Given the description of an element on the screen output the (x, y) to click on. 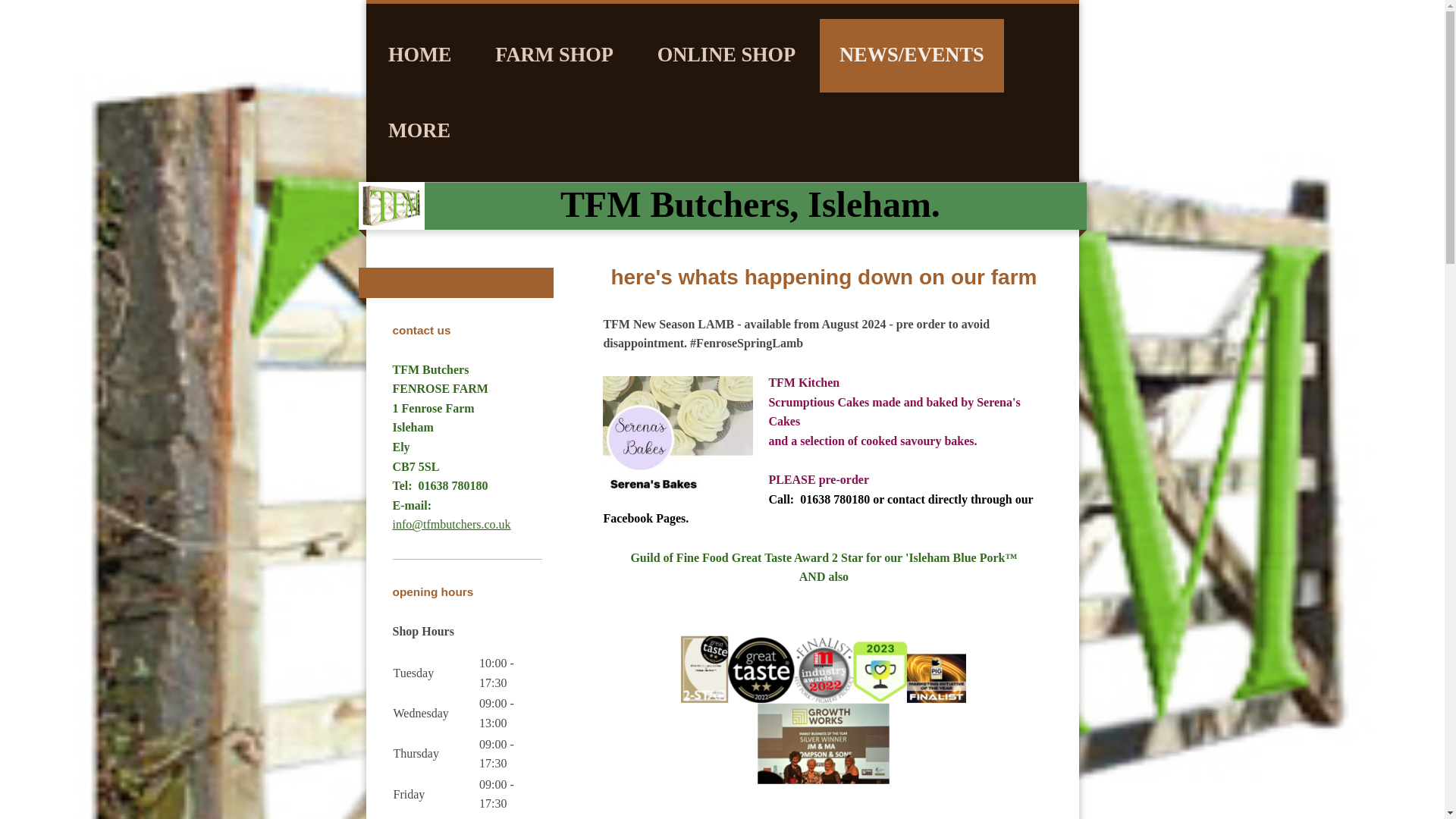
TFM Butchers, Isleham.  (750, 203)
FARM SHOP (554, 55)
HOME (419, 55)
ONLINE SHOP (726, 55)
MORE (419, 131)
